Given the description of an element on the screen output the (x, y) to click on. 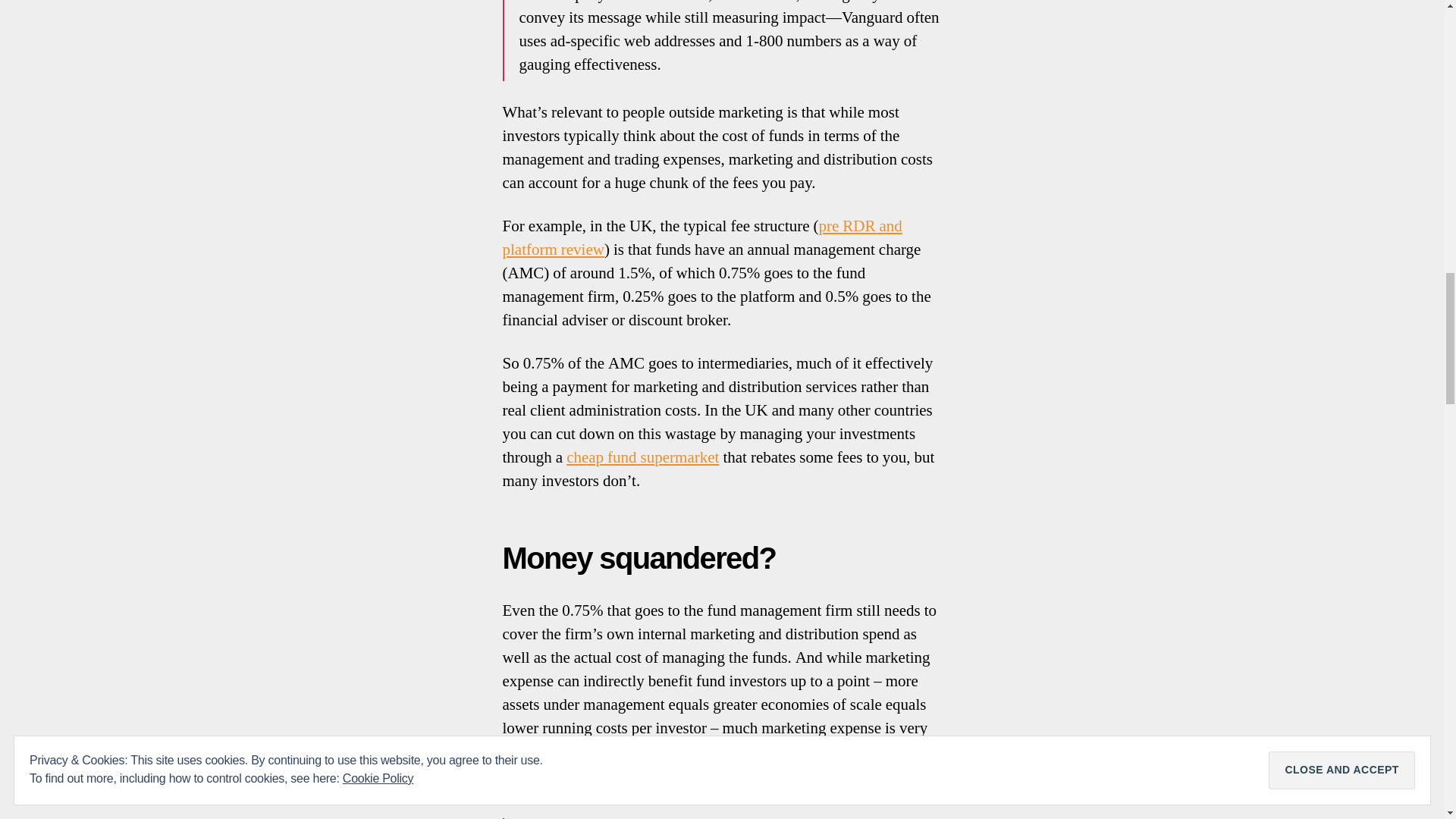
UK fund supermarket comparison table (642, 457)
Unbundled pricing for UK fund supermarkets (701, 238)
